Given the description of an element on the screen output the (x, y) to click on. 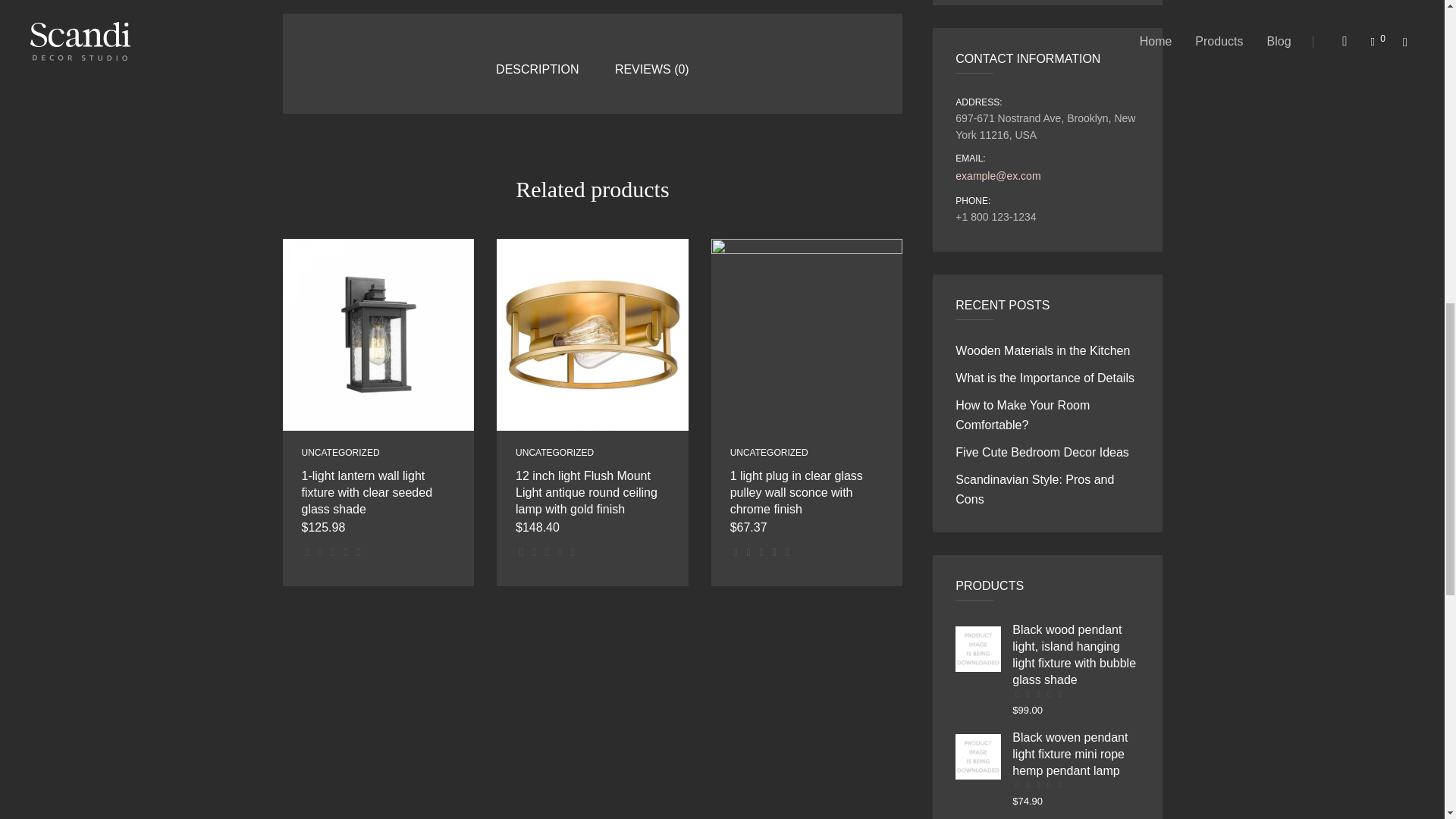
UNCATEGORIZED (554, 452)
UNCATEGORIZED (340, 452)
Rated 0 out of 5 (333, 552)
Rated 0 out of 5 (762, 552)
Rated 0 out of 5 (547, 552)
DESCRIPTION (537, 69)
